Given the description of an element on the screen output the (x, y) to click on. 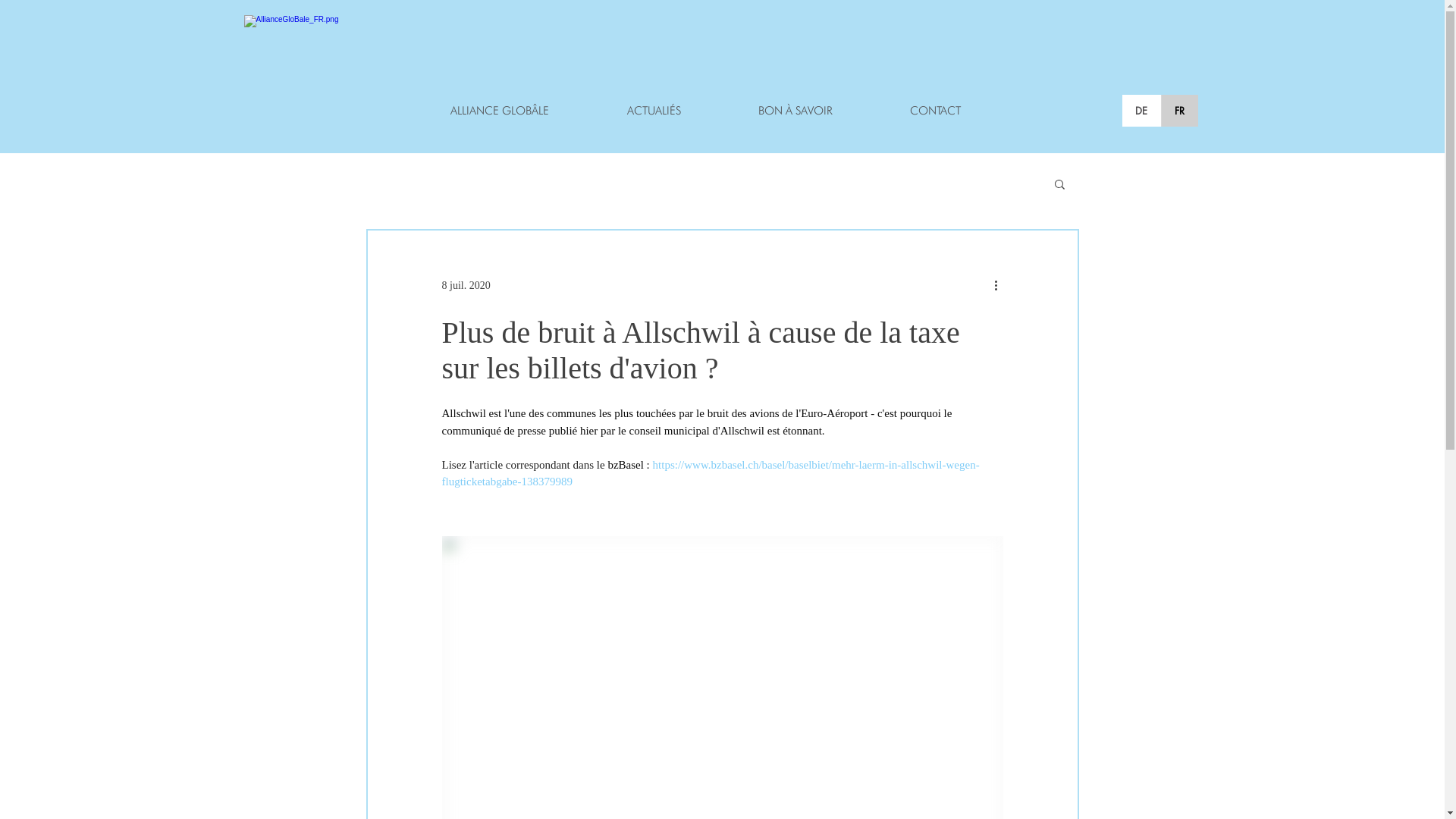
FR Element type: text (1178, 110)
CONTACT Element type: text (934, 111)
DE Element type: text (1141, 110)
